Given the description of an element on the screen output the (x, y) to click on. 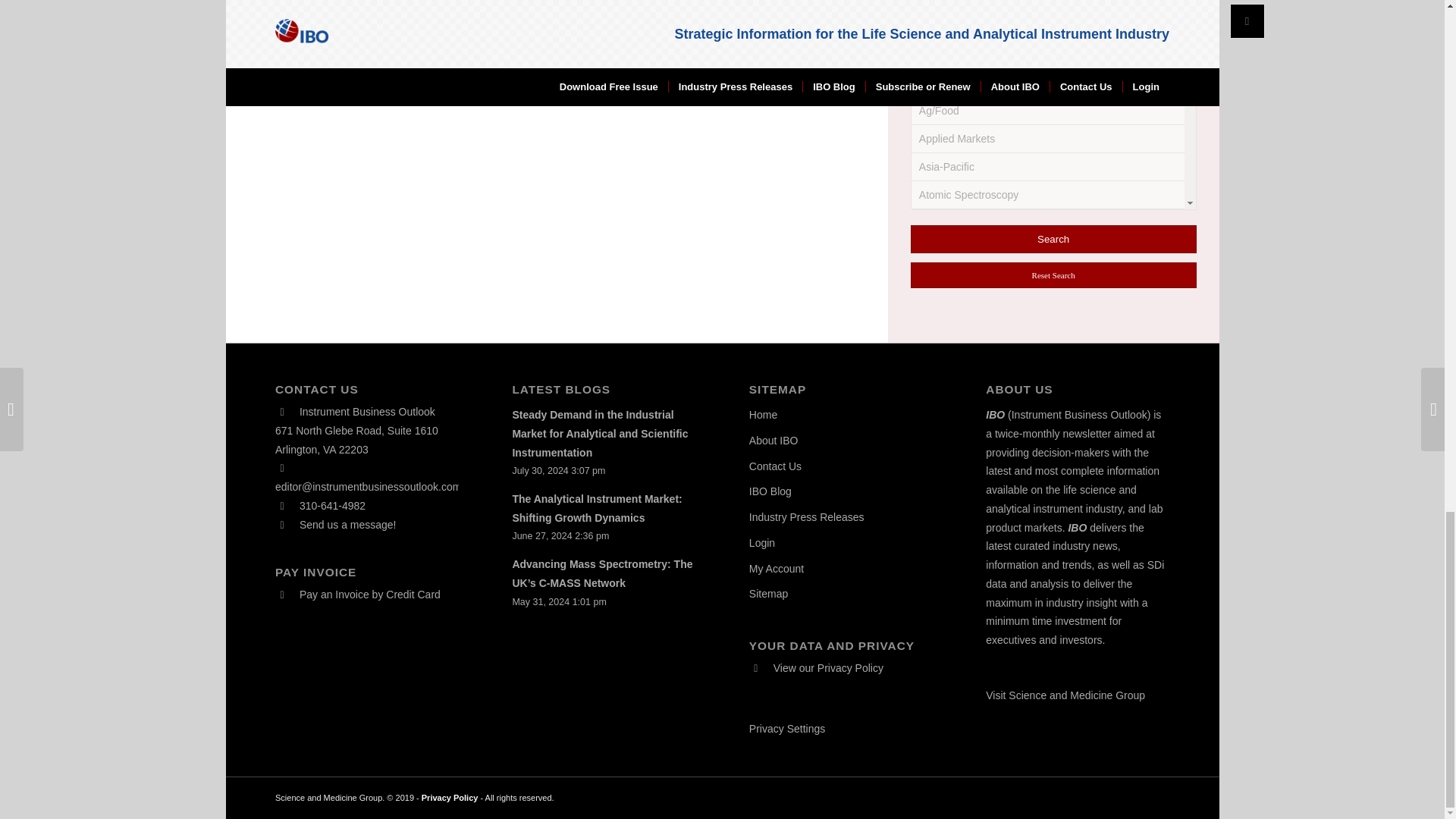
general-laboratory-products (938, 126)
The Analytical Instrument Market: Shifting Growth Dynamics (596, 508)
general-laboratory-productsconsumableslife-sciencegene-based (929, 322)
general-laboratory-productsconsumables (929, 157)
